Given the description of an element on the screen output the (x, y) to click on. 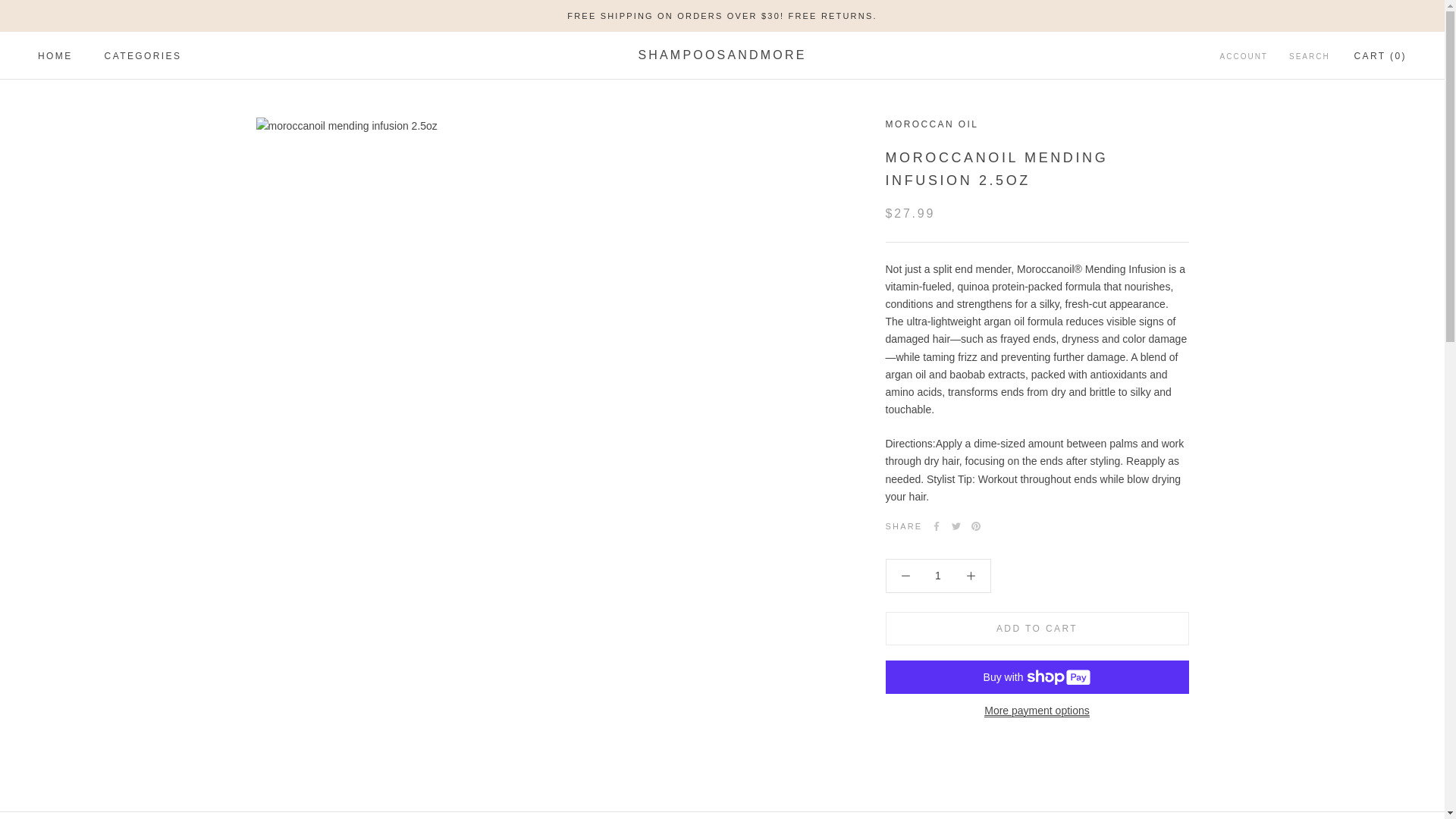
SHAMPOOSANDMORE (721, 55)
SEARCH (1309, 56)
CATEGORIES (143, 55)
ADD TO CART (1037, 628)
1 (938, 575)
ACCOUNT (1244, 56)
MOROCCAN OIL (54, 55)
